Given the description of an element on the screen output the (x, y) to click on. 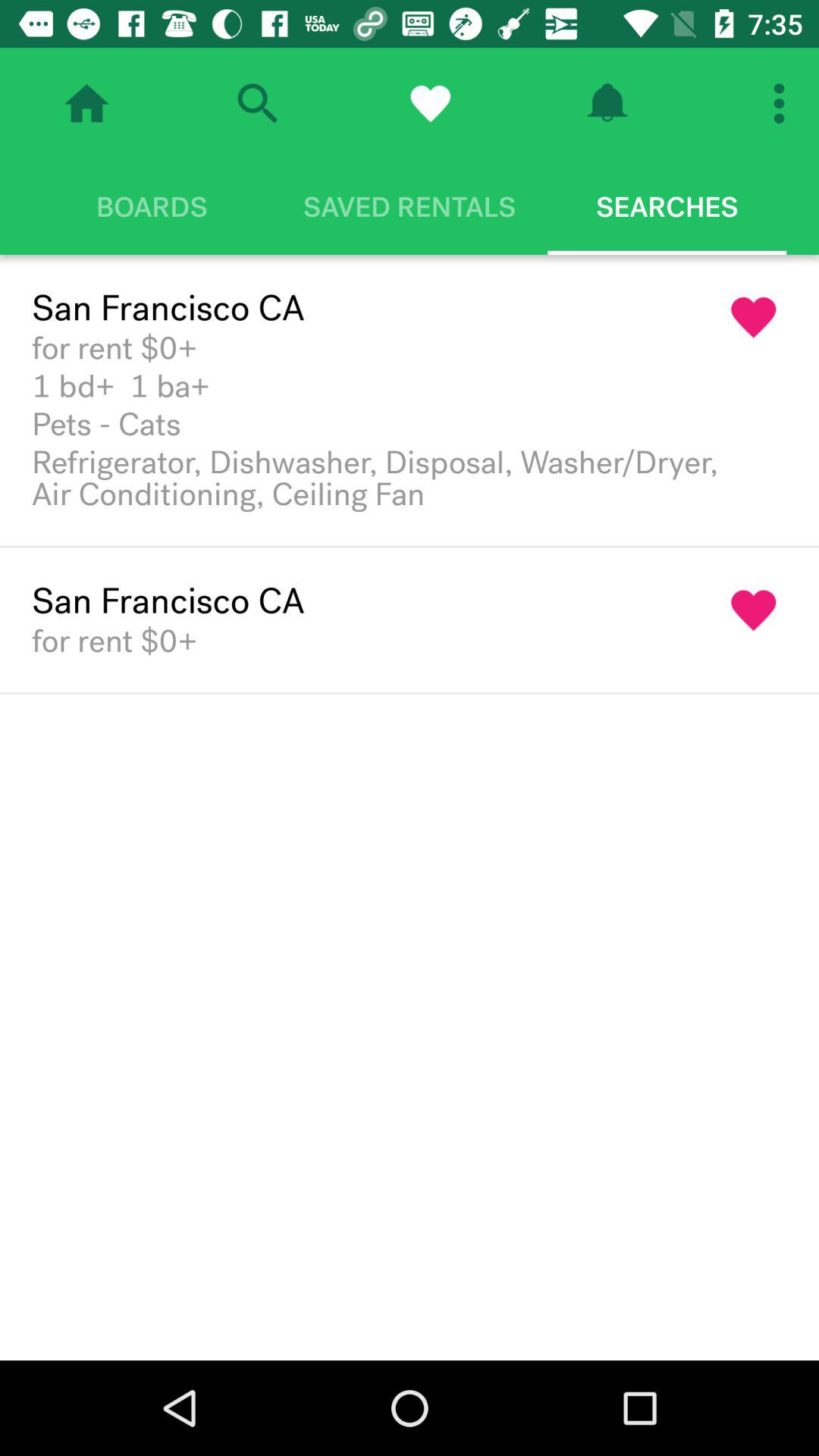
go to the home page (86, 103)
